Given the description of an element on the screen output the (x, y) to click on. 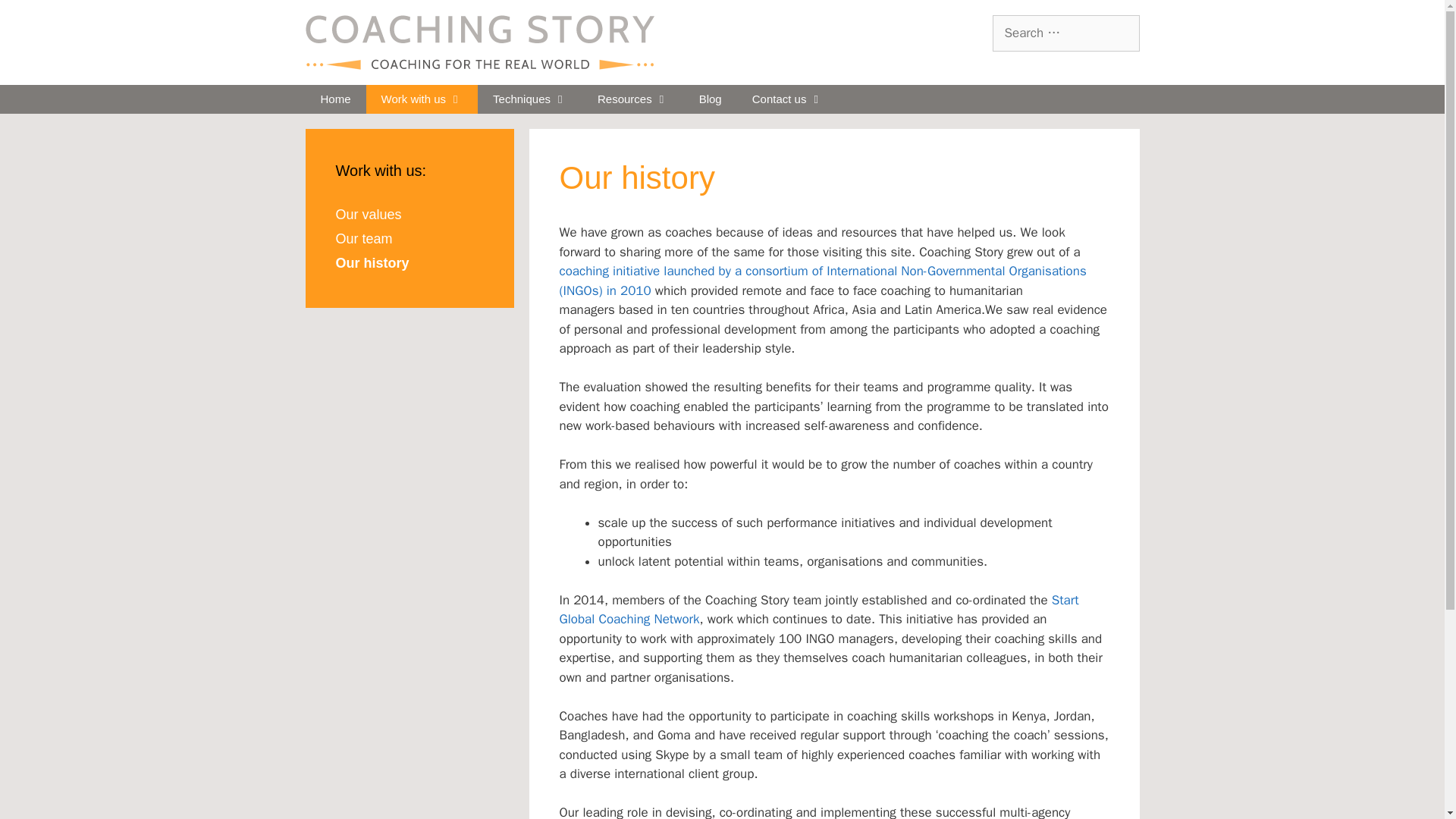
Home (334, 99)
Search (35, 18)
Search for: (1064, 33)
Contact us (787, 99)
Blog (710, 99)
Resources (633, 99)
Start Global Coaching Network (818, 610)
Our history (371, 263)
Our team (362, 238)
Techniques (529, 99)
Work with us (422, 99)
Our values (367, 214)
